Given the description of an element on the screen output the (x, y) to click on. 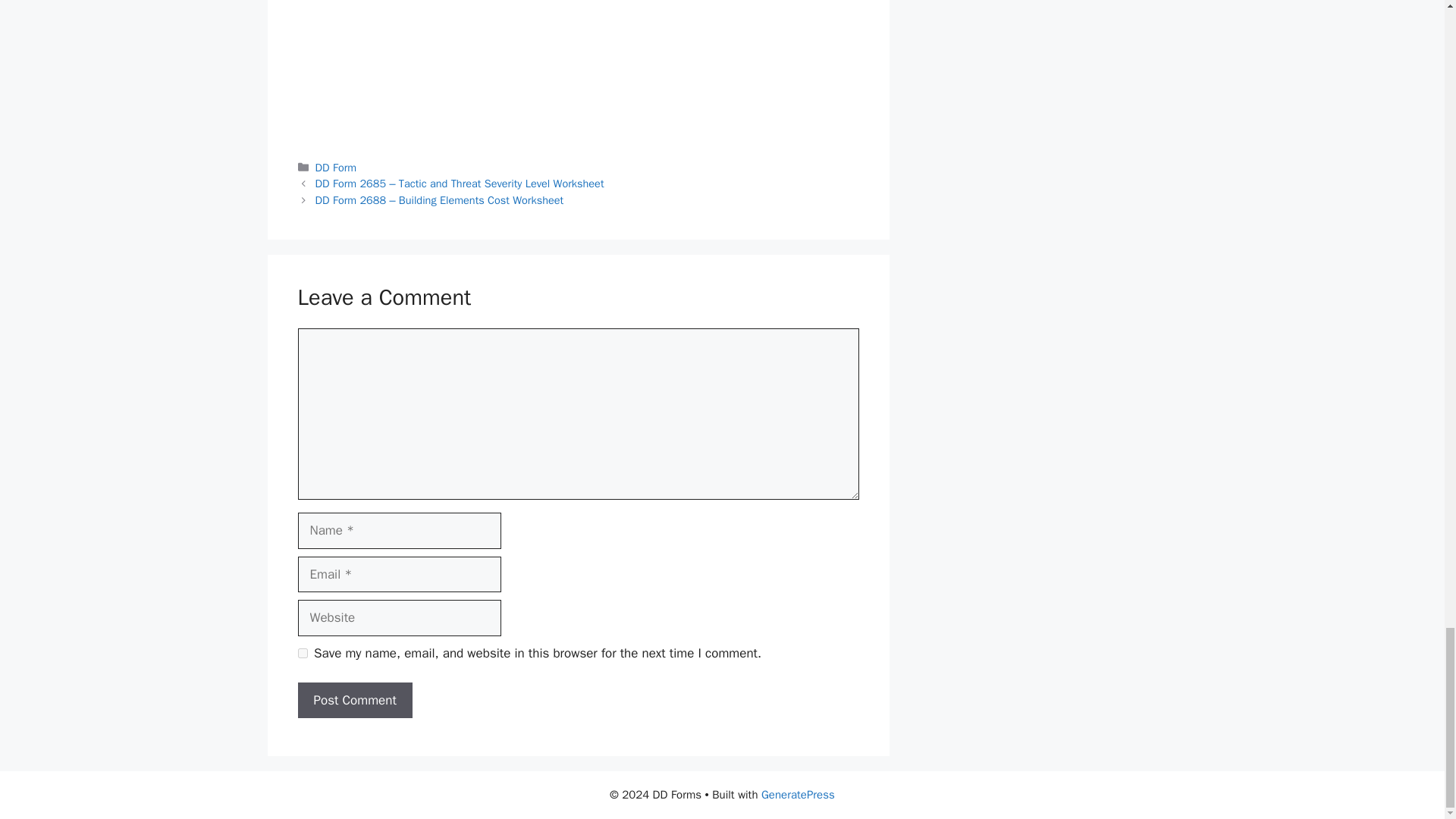
Post Comment (354, 700)
Post Comment (354, 700)
DD Form (335, 167)
yes (302, 653)
GeneratePress (797, 794)
